Given the description of an element on the screen output the (x, y) to click on. 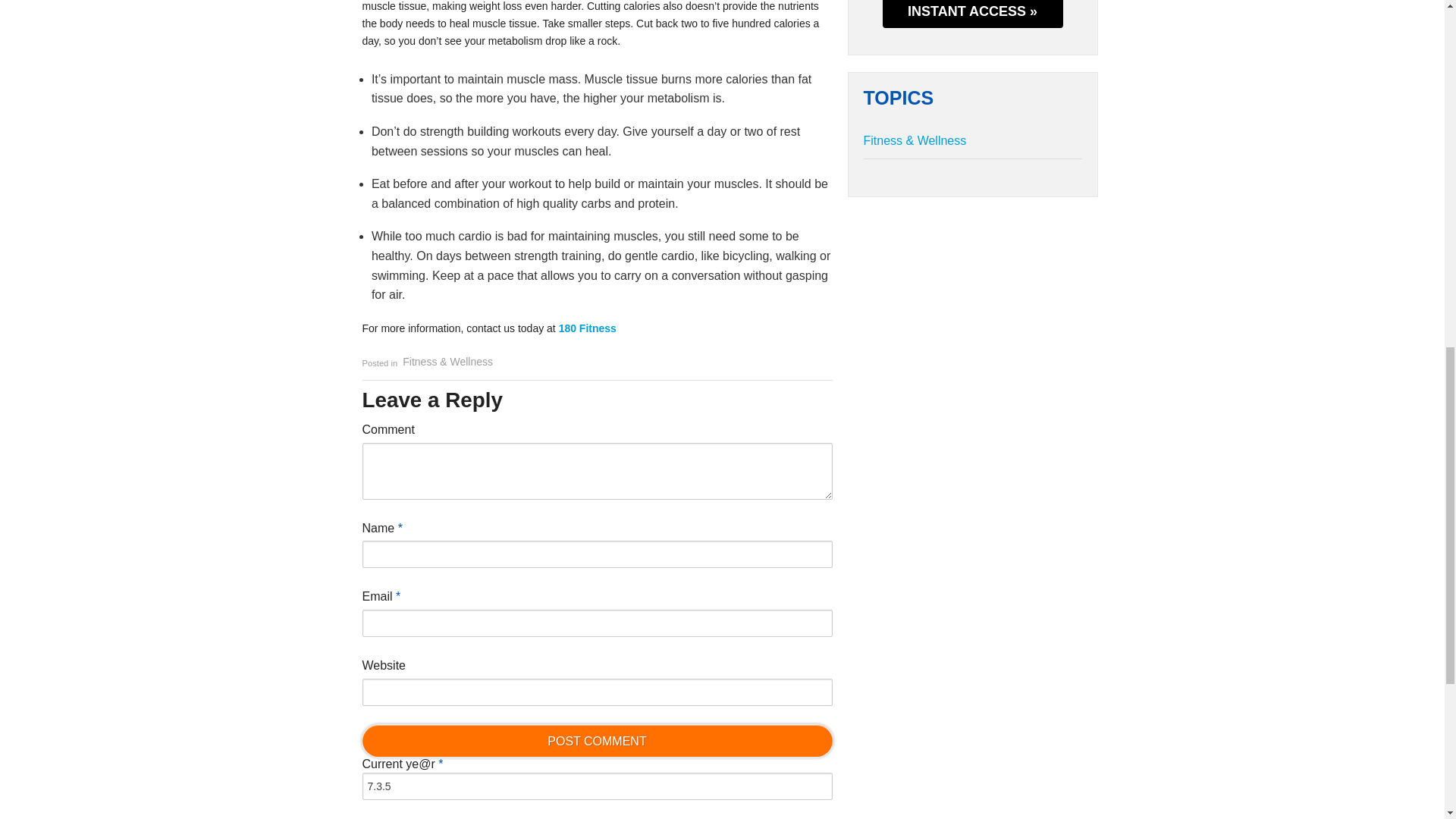
Post Comment (597, 740)
180 Fitness (587, 328)
Post Comment (597, 740)
7.3.5 (597, 786)
